Given the description of an element on the screen output the (x, y) to click on. 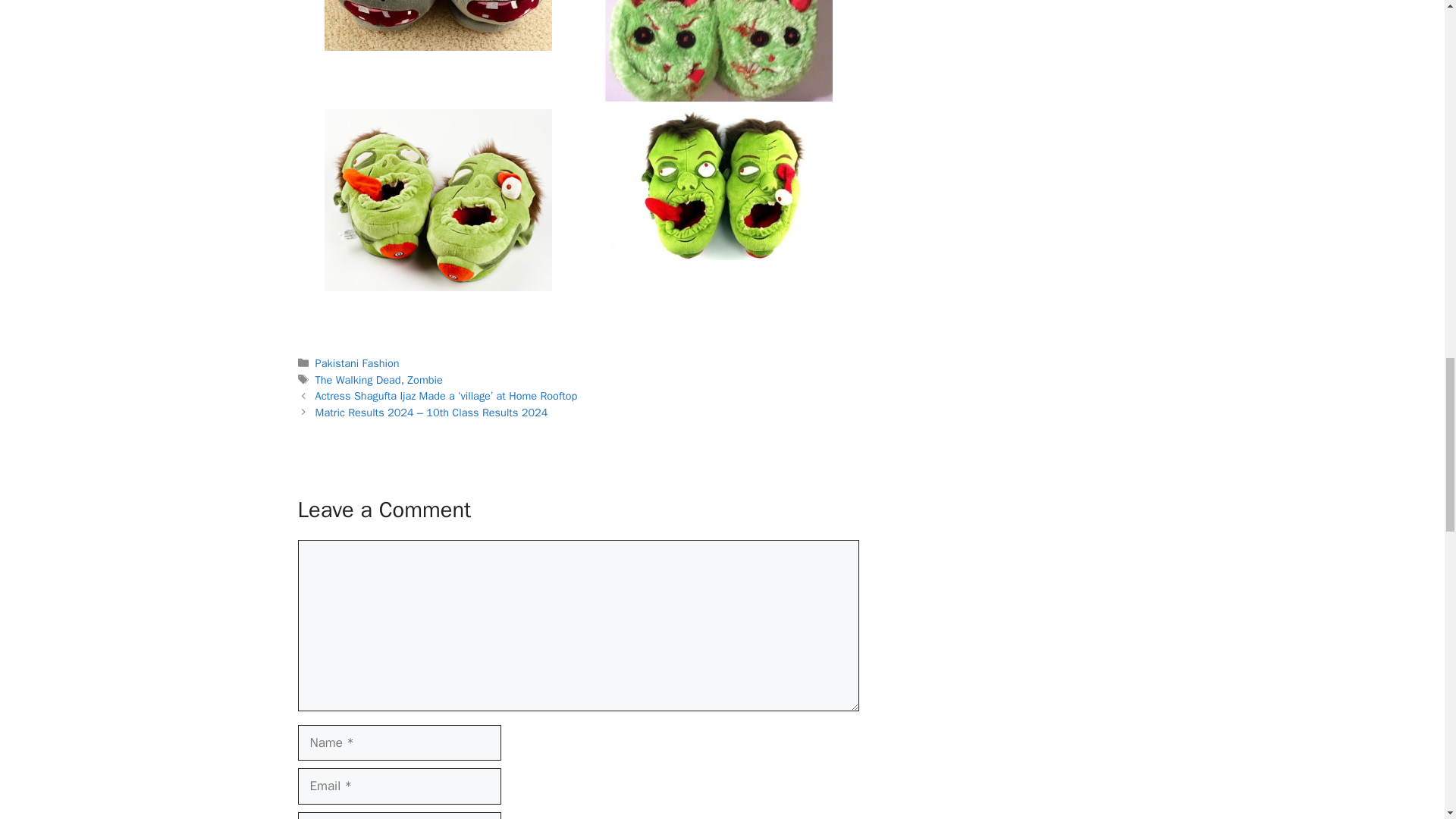
Zombie (424, 379)
Pakistani Fashion (356, 363)
The Walking Dead (358, 379)
